Given the description of an element on the screen output the (x, y) to click on. 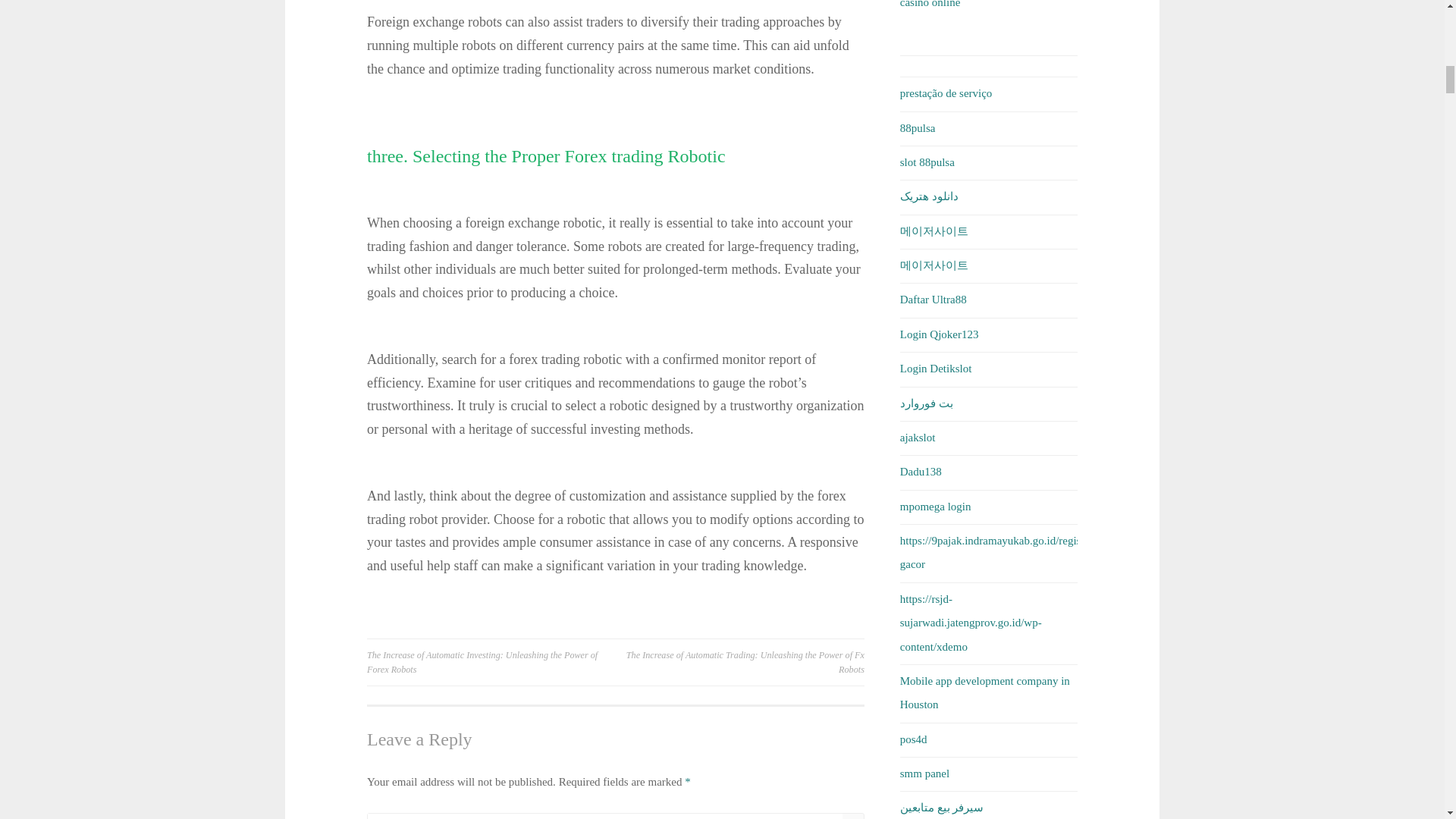
88pulsa (917, 127)
slot 88pulsa (927, 162)
casino online (929, 4)
